Given the description of an element on the screen output the (x, y) to click on. 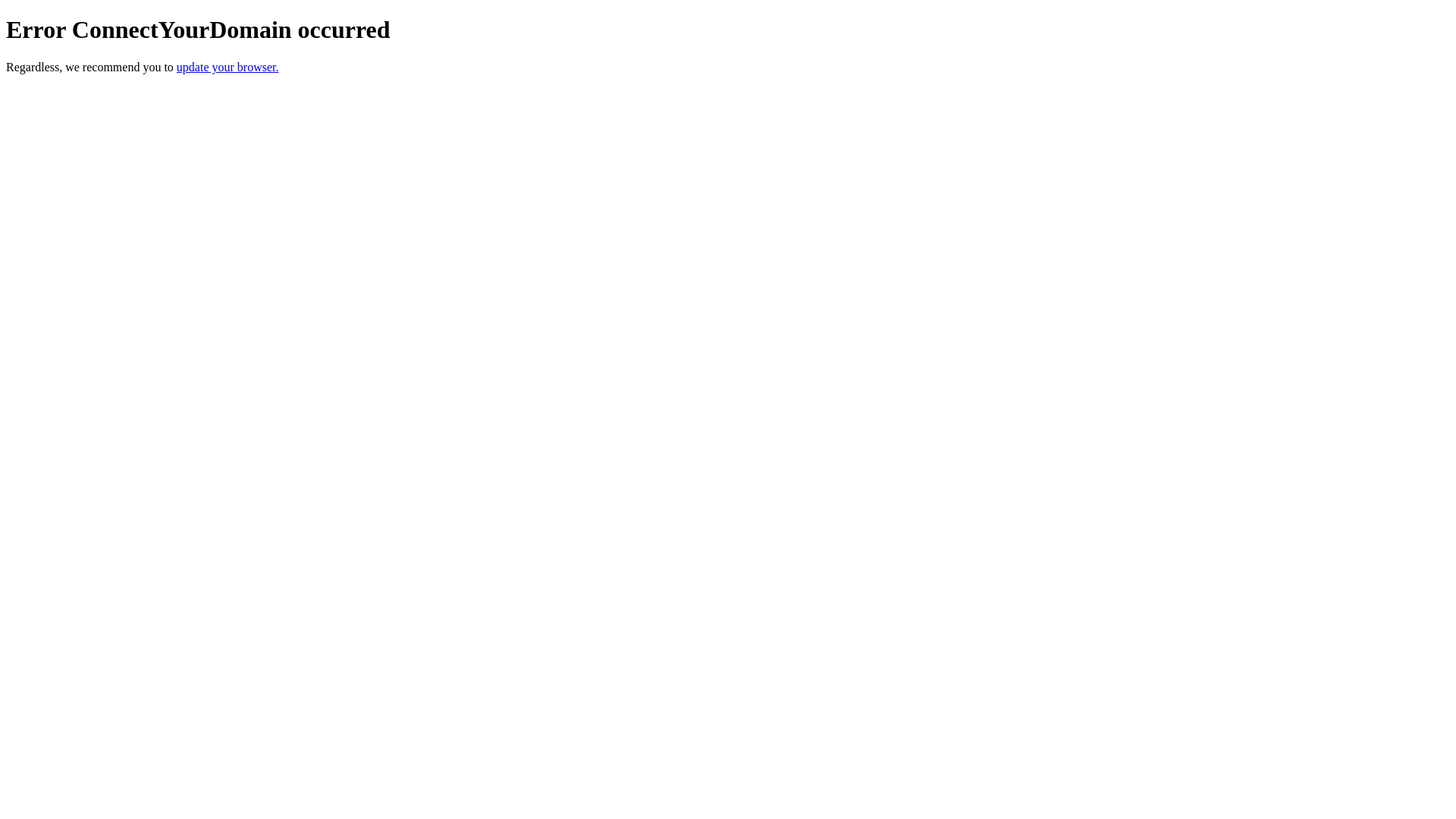
update your browser. Element type: text (227, 66)
